Given the description of an element on the screen output the (x, y) to click on. 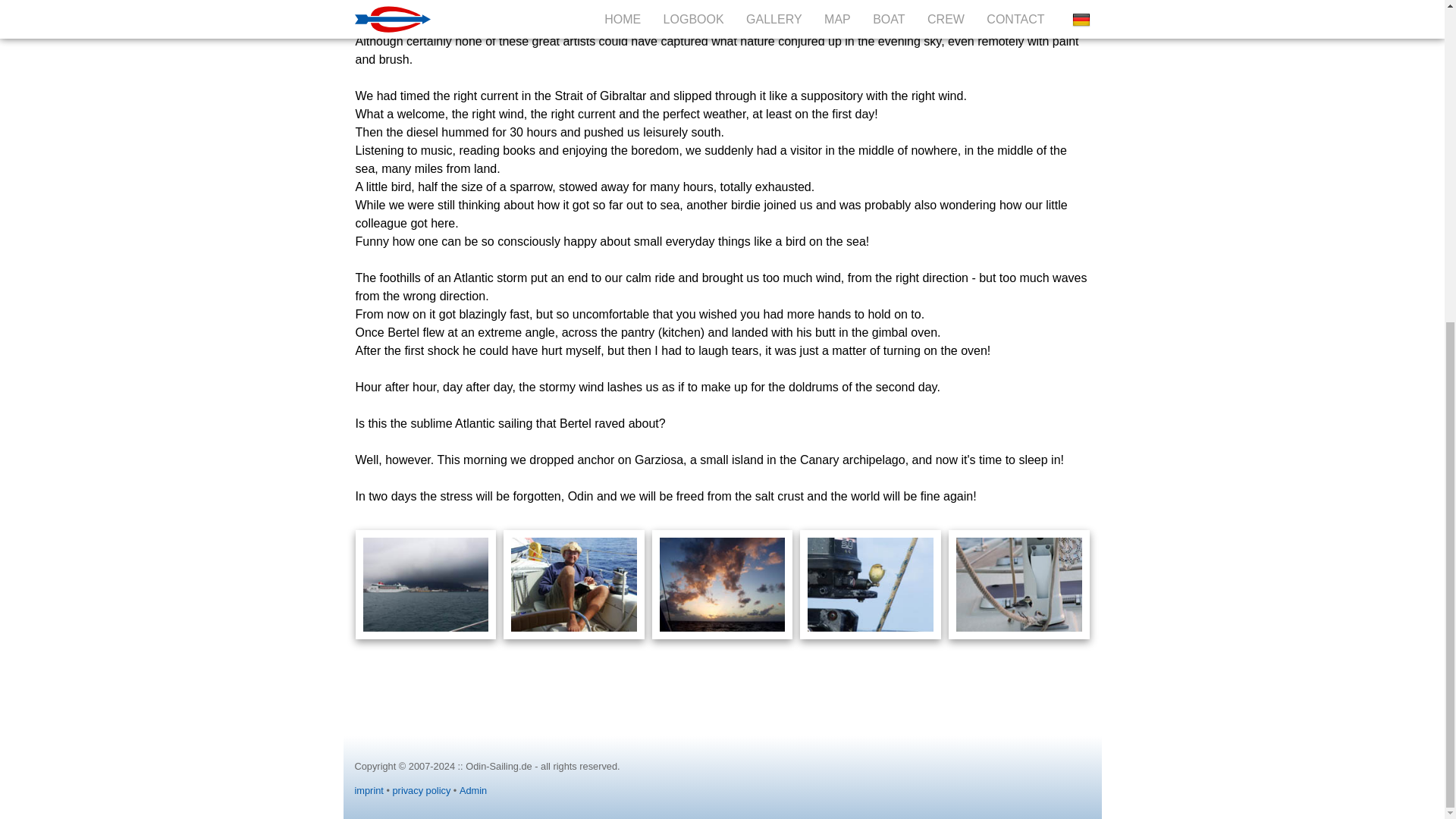
imprint (369, 790)
Admin (473, 790)
privacy policy (422, 790)
